Given the description of an element on the screen output the (x, y) to click on. 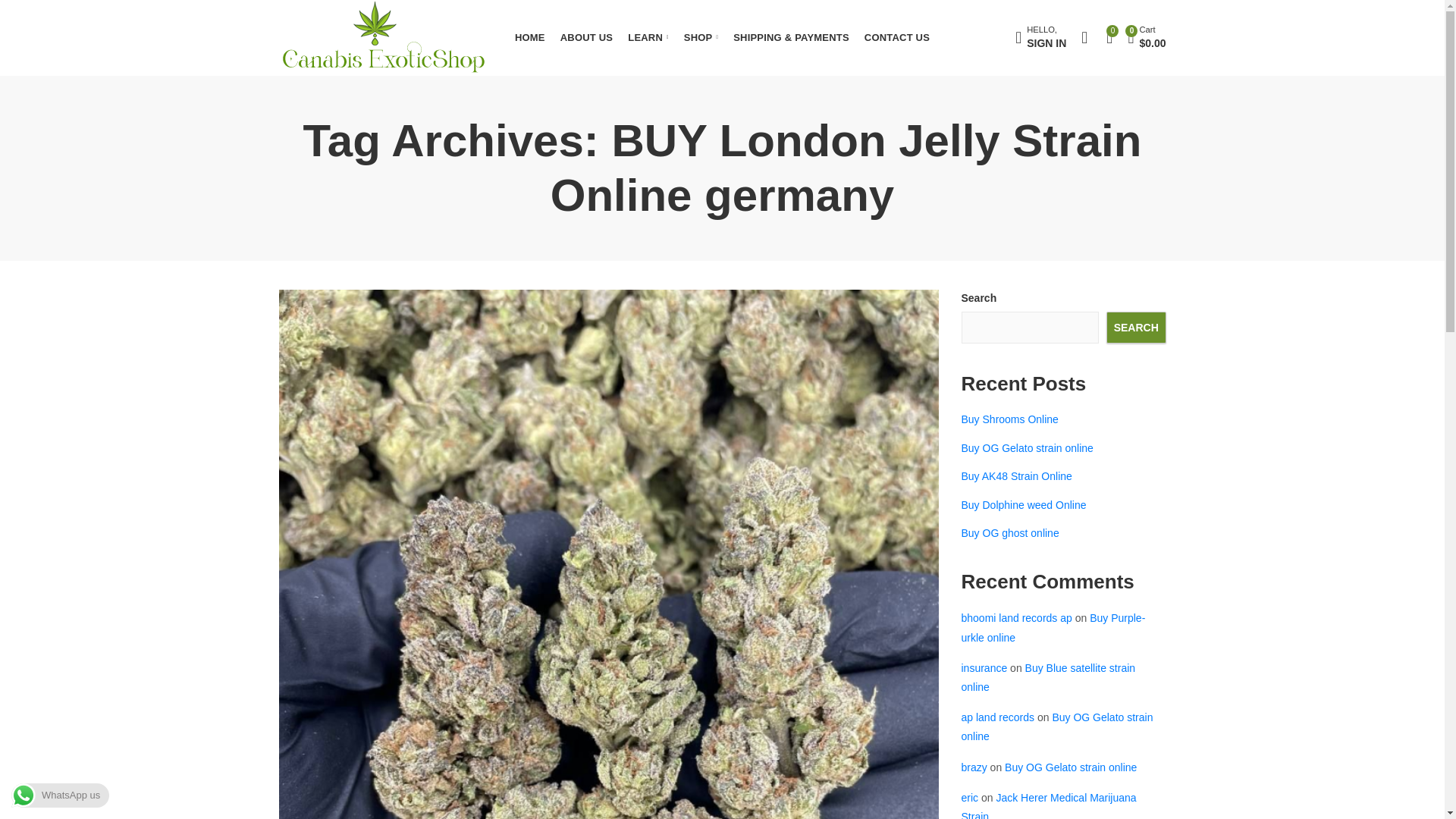
CONTACT US (897, 37)
SHOP (701, 37)
ABOUT US (587, 37)
LEARN (648, 37)
HOME (1039, 38)
